Given the description of an element on the screen output the (x, y) to click on. 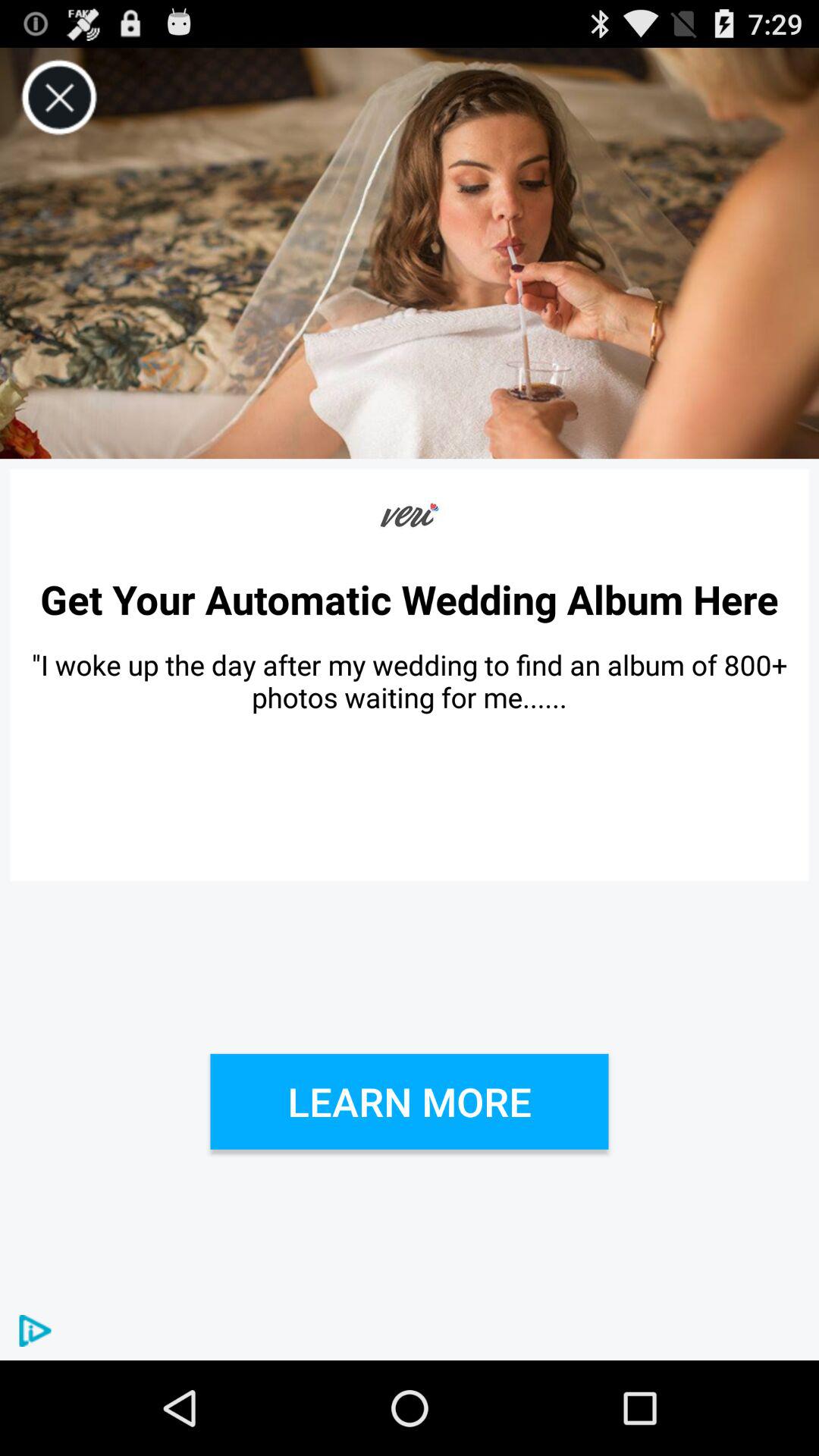
turn on item above get your automatic item (59, 97)
